Given the description of an element on the screen output the (x, y) to click on. 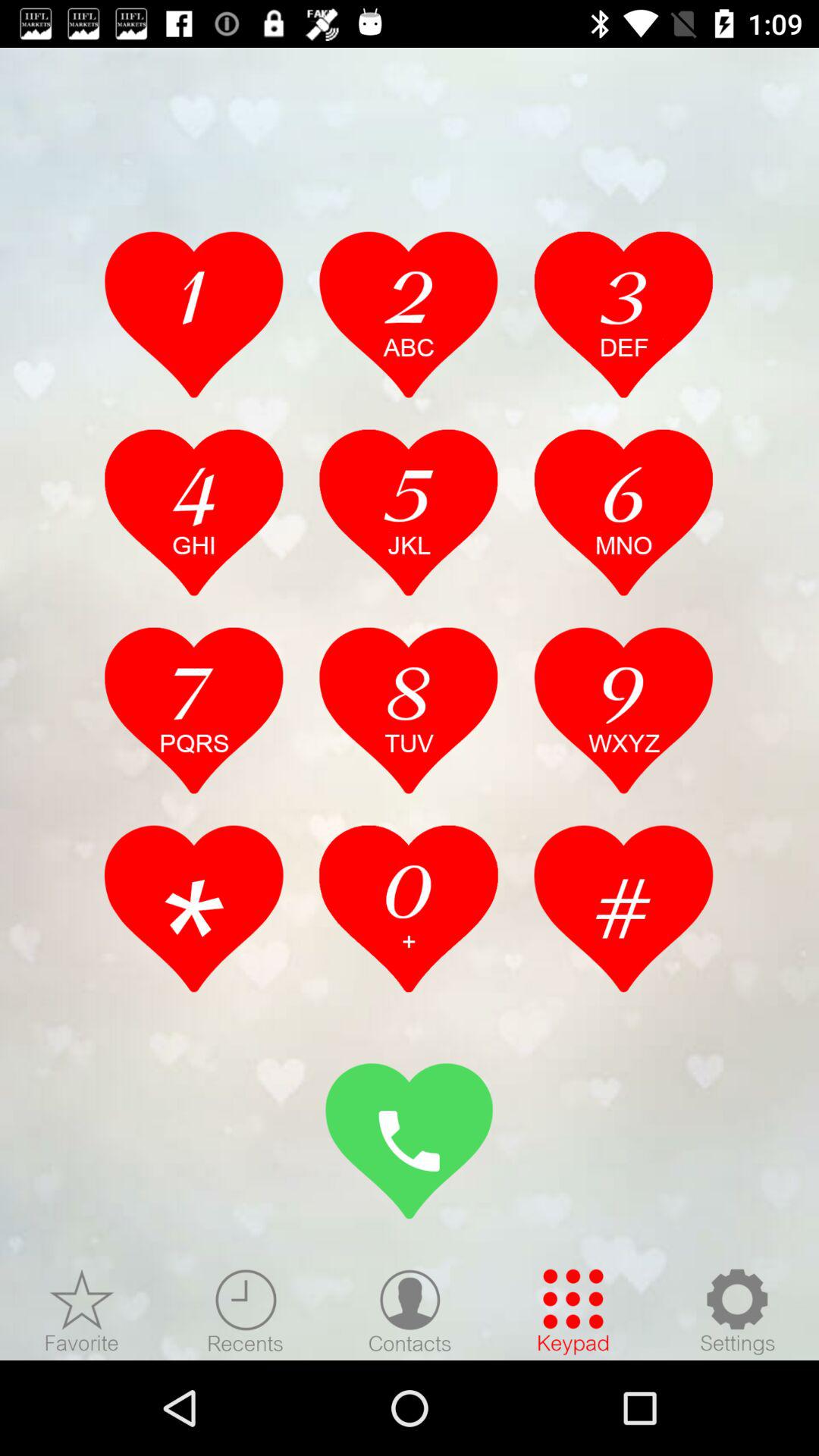
press number 6 (623, 512)
